Given the description of an element on the screen output the (x, y) to click on. 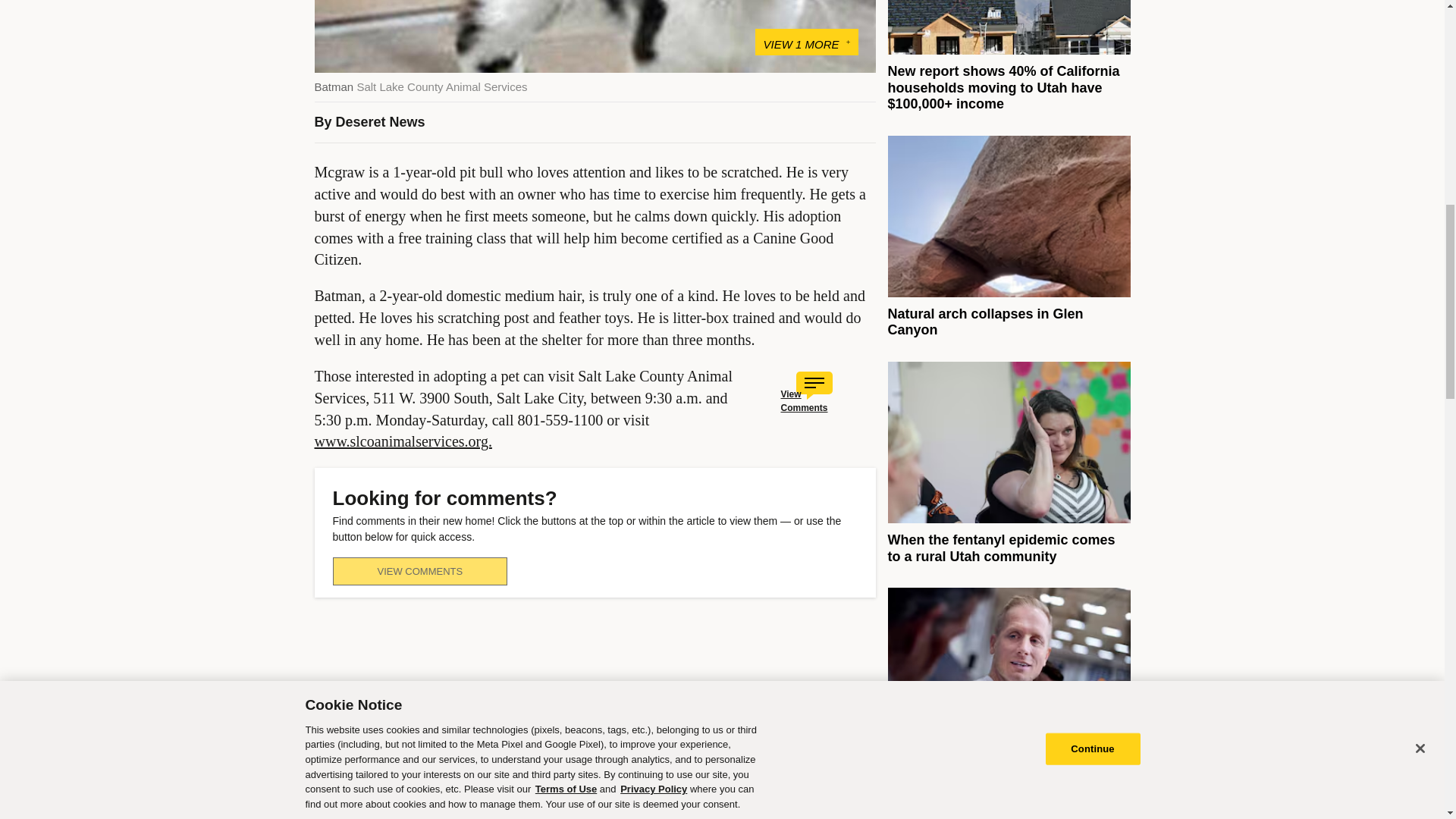
VIEW COMMENTS (418, 571)
Natural arch collapses in Glen Canyon (984, 322)
When the fentanyl epidemic comes to a rural Utah community (1000, 548)
www.slcoanimalservices.org. (403, 441)
Deseret News (380, 121)
